Given the description of an element on the screen output the (x, y) to click on. 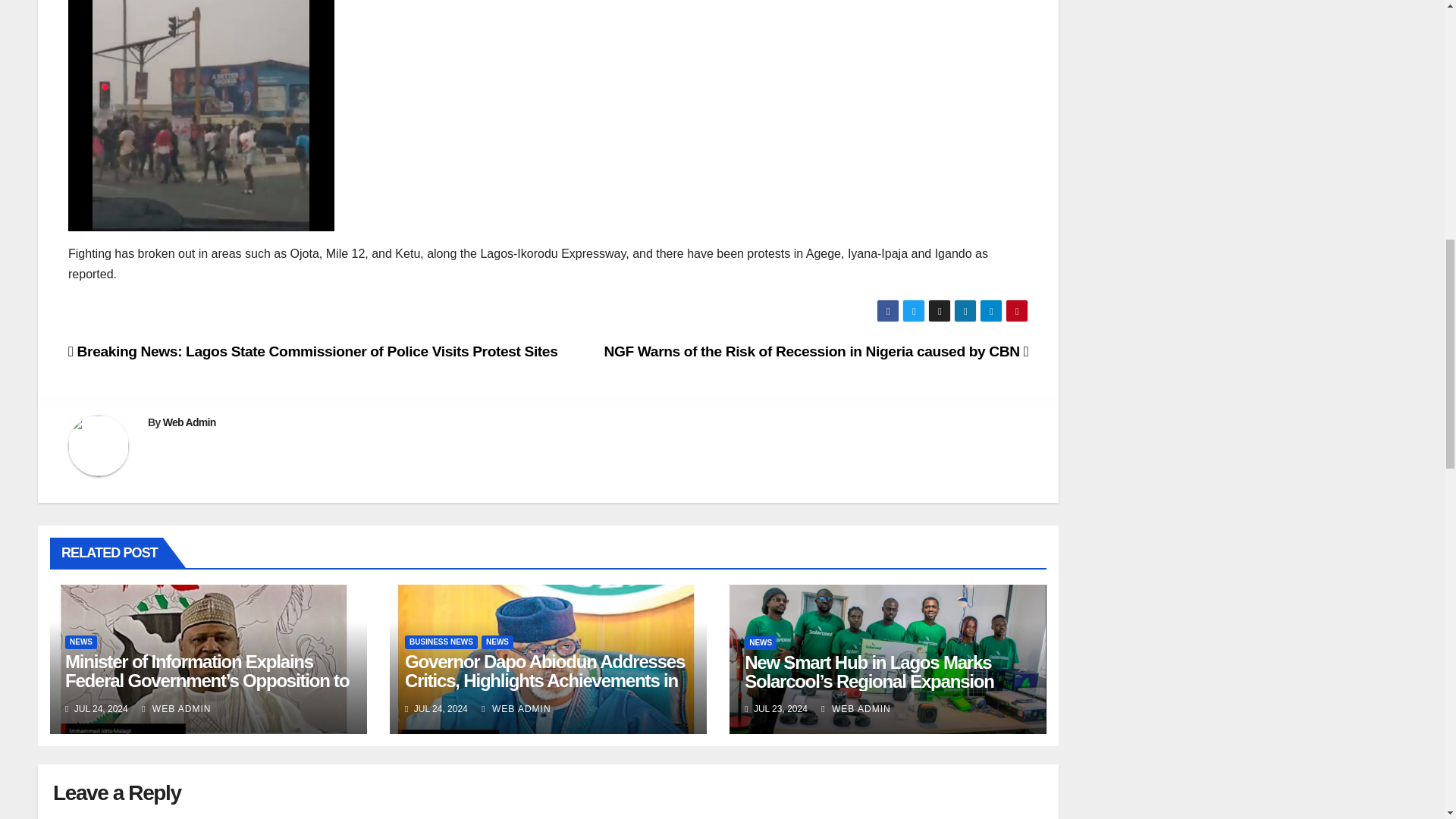
WEB ADMIN (515, 708)
NEWS (760, 643)
WEB ADMIN (855, 708)
Web Admin (189, 422)
NEWS (81, 642)
NEWS (497, 642)
BUSINESS NEWS (440, 642)
WEB ADMIN (176, 708)
NGF Warns of the Risk of Recession in Nigeria caused by CBN (816, 351)
